Given the description of an element on the screen output the (x, y) to click on. 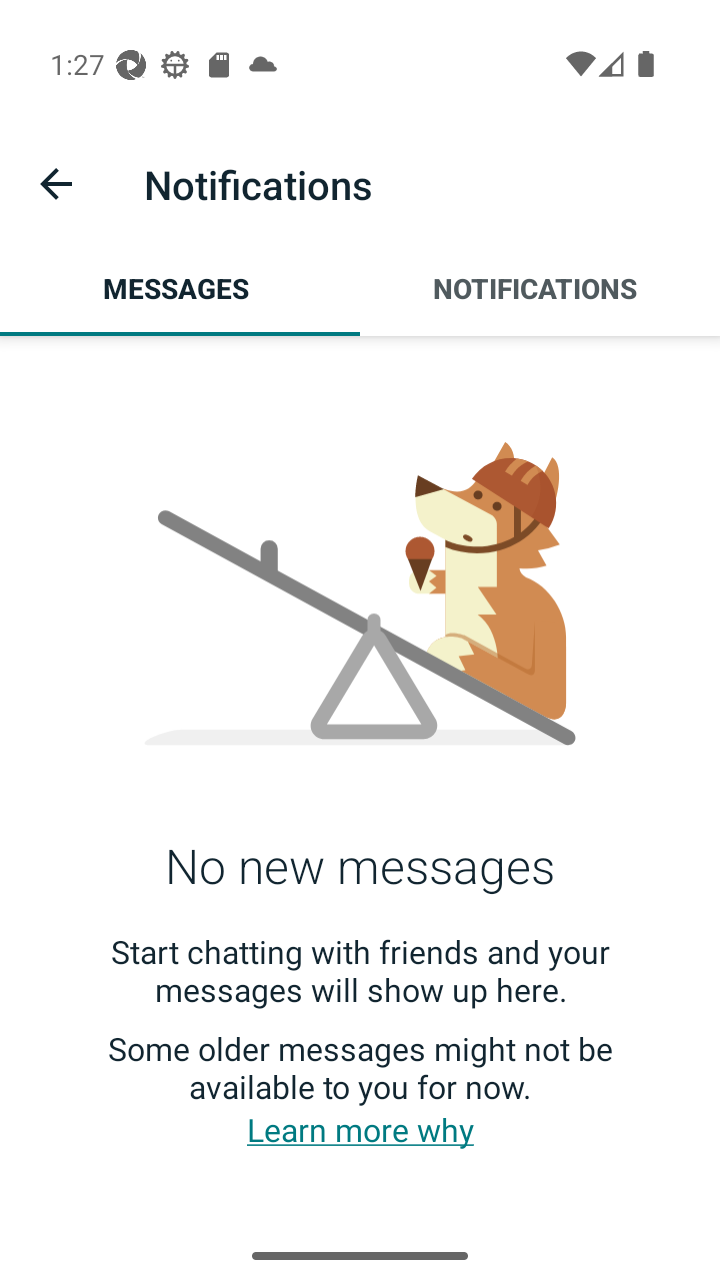
Notifications NOTIFICATIONS (540, 287)
